Given the description of an element on the screen output the (x, y) to click on. 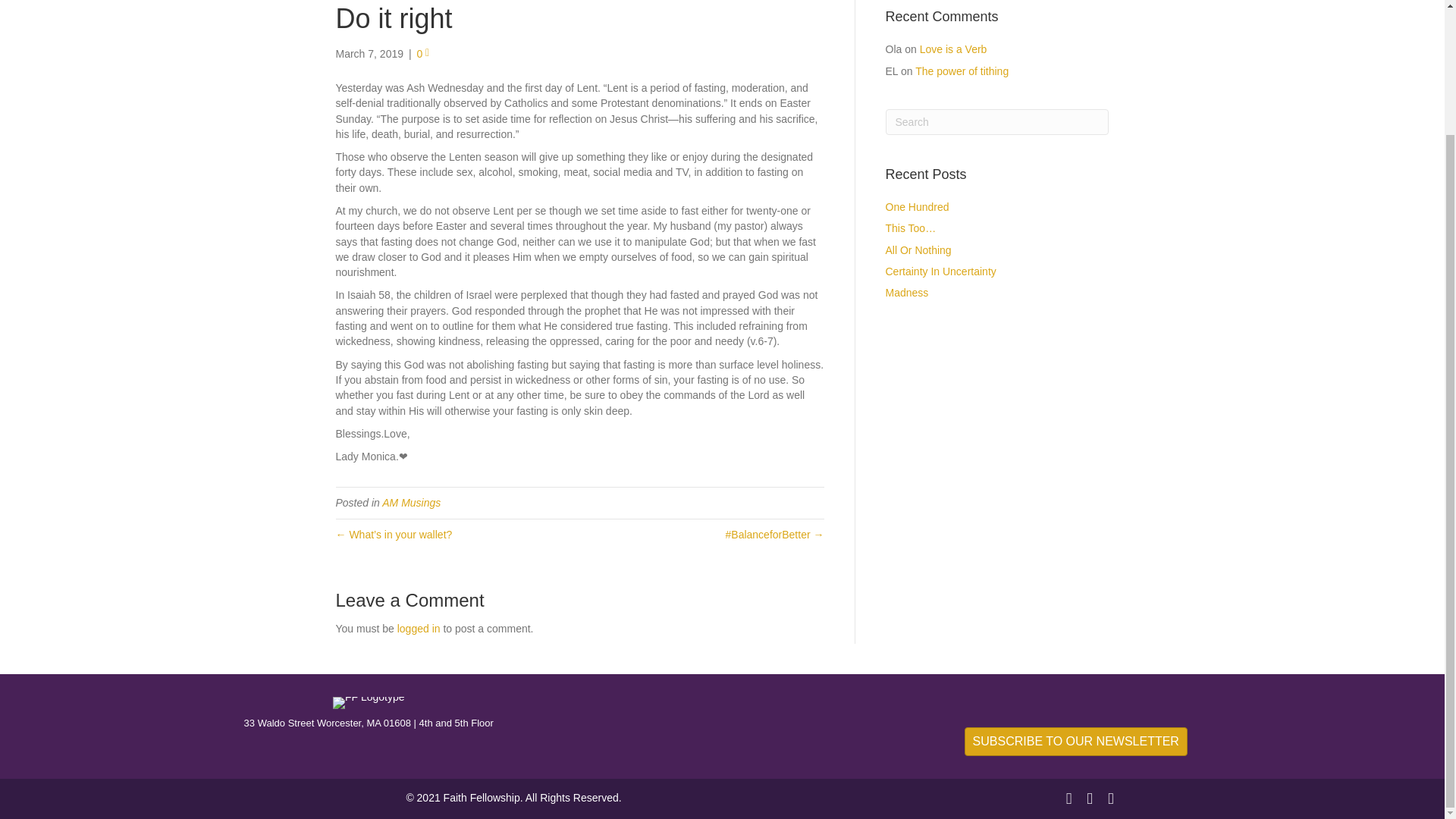
Type and press Enter to search. (997, 121)
All Or Nothing (918, 250)
Madness (906, 292)
0 (422, 53)
Faith Fellowship - Logotype White (368, 702)
Certainty In Uncertainty (940, 271)
SUBSCRIBE TO OUR NEWSLETTER (1075, 741)
logged in (419, 628)
The power of tithing (962, 70)
Love is a Verb (953, 49)
